Given the description of an element on the screen output the (x, y) to click on. 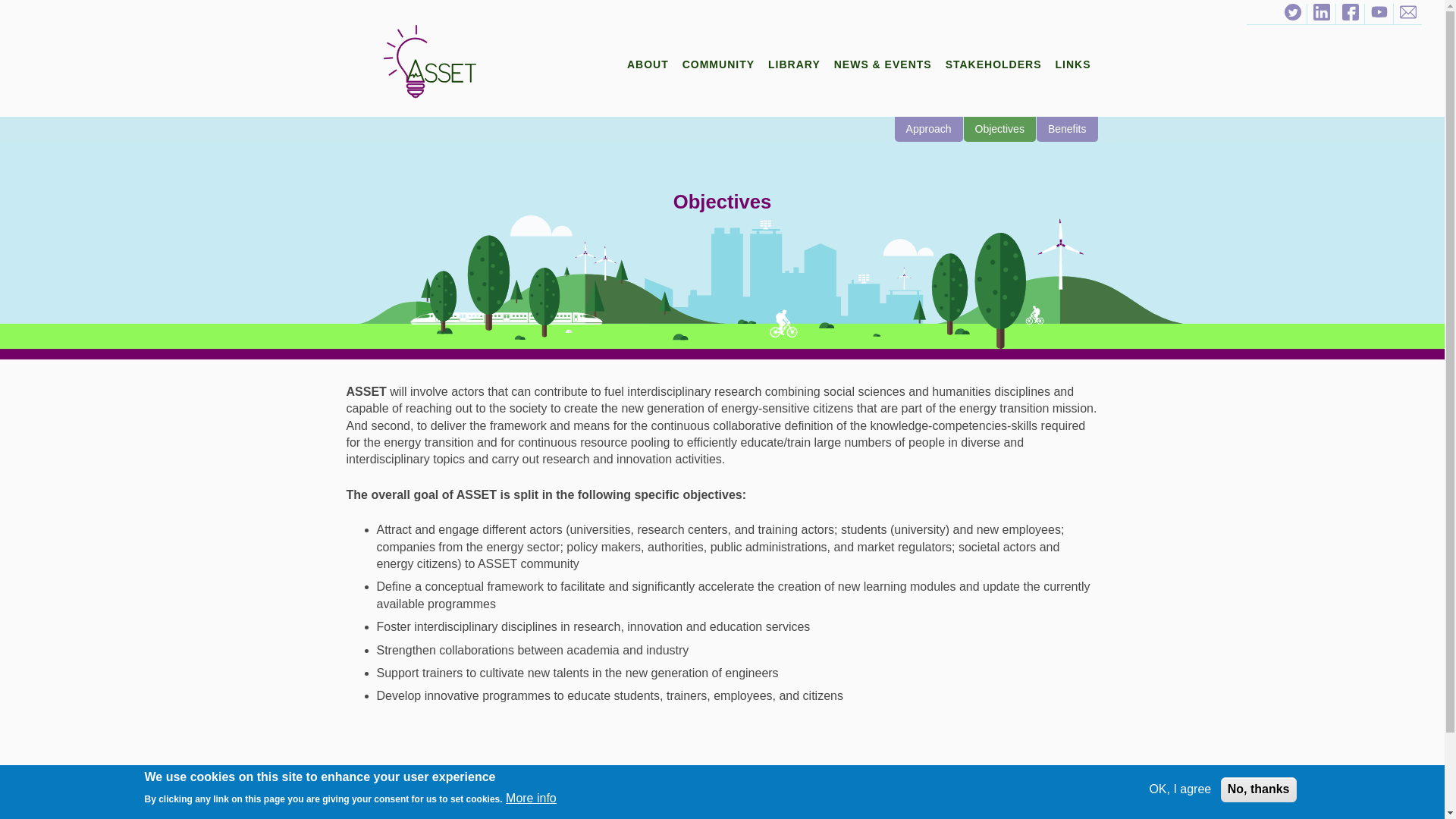
ABOUT (648, 64)
Benefits (1067, 129)
Approach (929, 129)
OK, I agree (1179, 789)
More info (530, 798)
LINKEDIN (1321, 14)
Objectives (999, 129)
FACEBOOK (1349, 14)
COMMUNITY (718, 64)
TWITTER (1292, 14)
No, thanks (1259, 789)
LINKS (1073, 64)
STAKEHOLDERS (993, 64)
CONTACT (1407, 14)
